Given the description of an element on the screen output the (x, y) to click on. 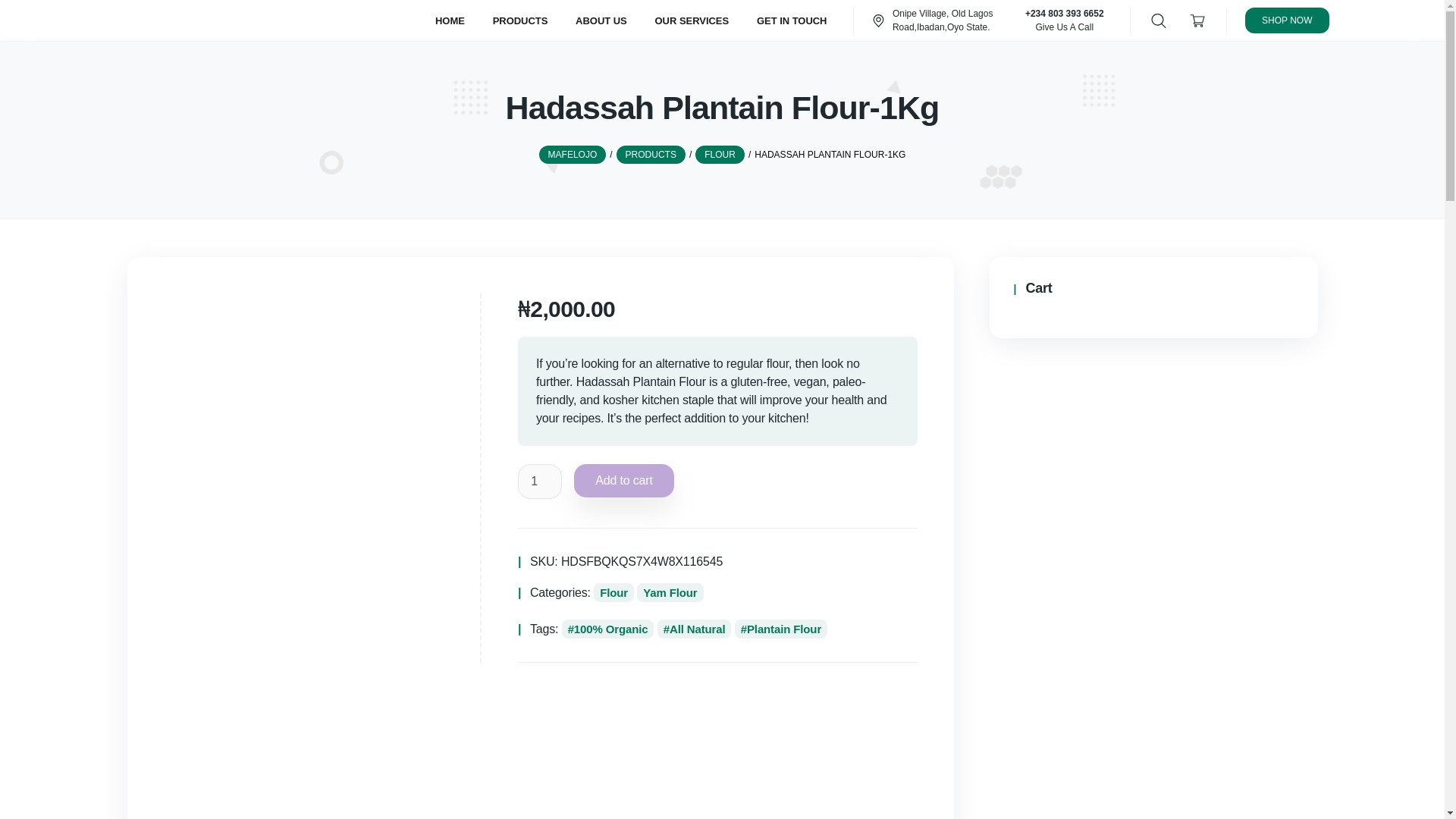
Go to Products. (650, 154)
1 (540, 481)
GET IN TOUCH (791, 20)
OUR SERVICES (691, 20)
SHOP NOW (1285, 19)
Search (16, 16)
Plantain Flour (781, 628)
FLOUR (719, 154)
PRODUCTS (650, 154)
Go to the Flour Category archives. (719, 154)
Onipe Village, Old Lagos Road,Ibadan,Oyo State. (942, 20)
My Basket (1197, 20)
Flour (613, 592)
Go to Mafelojo. (572, 154)
Add to cart (623, 480)
